Given the description of an element on the screen output the (x, y) to click on. 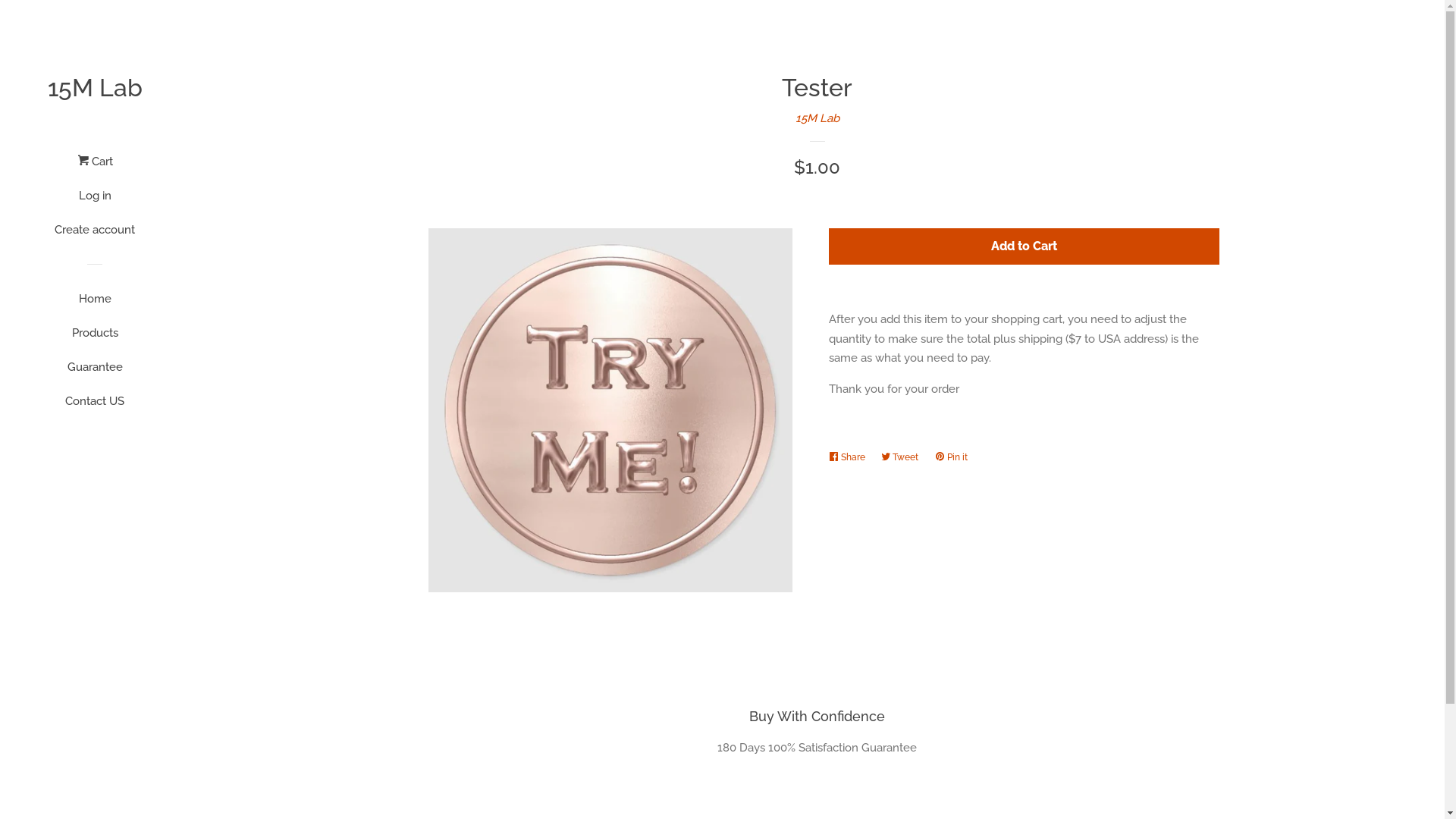
Contact US Element type: text (94, 406)
15M Lab Element type: text (816, 118)
Cart Element type: text (94, 167)
Tweet
Tweet on Twitter Element type: text (903, 457)
Products Element type: text (94, 338)
Add to Cart Element type: text (1023, 246)
Home Element type: text (94, 304)
Close Element type: text (1394, 100)
Create account Element type: text (94, 235)
Share
Share on Facebook Element type: text (850, 457)
Guarantee Element type: text (94, 372)
Pin it
Pin on Pinterest Element type: text (954, 457)
Log in Element type: text (94, 201)
15M Lab Element type: text (94, 88)
